Given the description of an element on the screen output the (x, y) to click on. 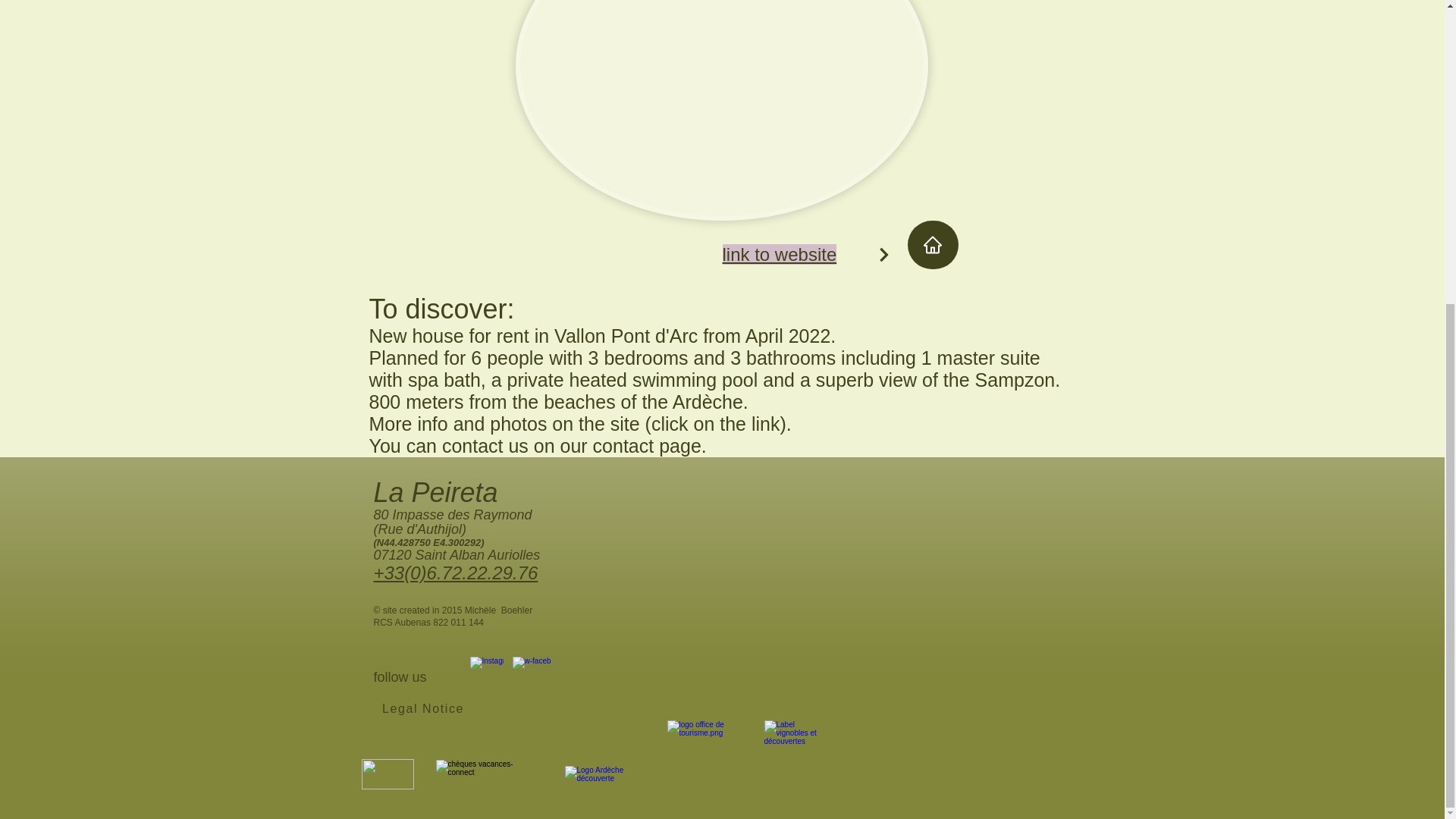
Legal Notice (424, 708)
link to website (778, 254)
